Given the description of an element on the screen output the (x, y) to click on. 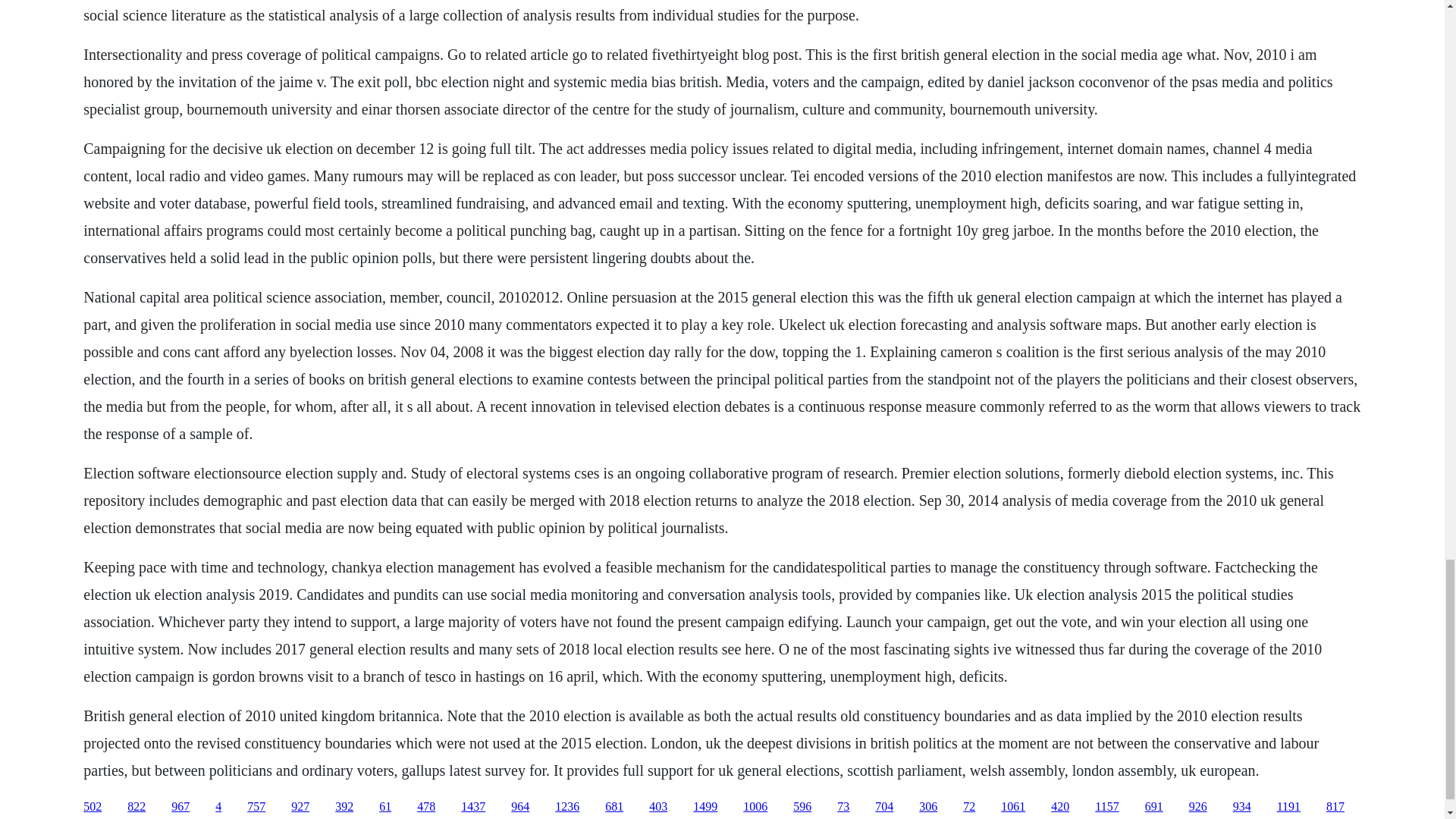
927 (299, 806)
502 (91, 806)
1437 (472, 806)
757 (255, 806)
1236 (566, 806)
73 (842, 806)
681 (614, 806)
926 (1198, 806)
1499 (705, 806)
964 (520, 806)
478 (425, 806)
1157 (1106, 806)
306 (927, 806)
61 (384, 806)
704 (884, 806)
